Given the description of an element on the screen output the (x, y) to click on. 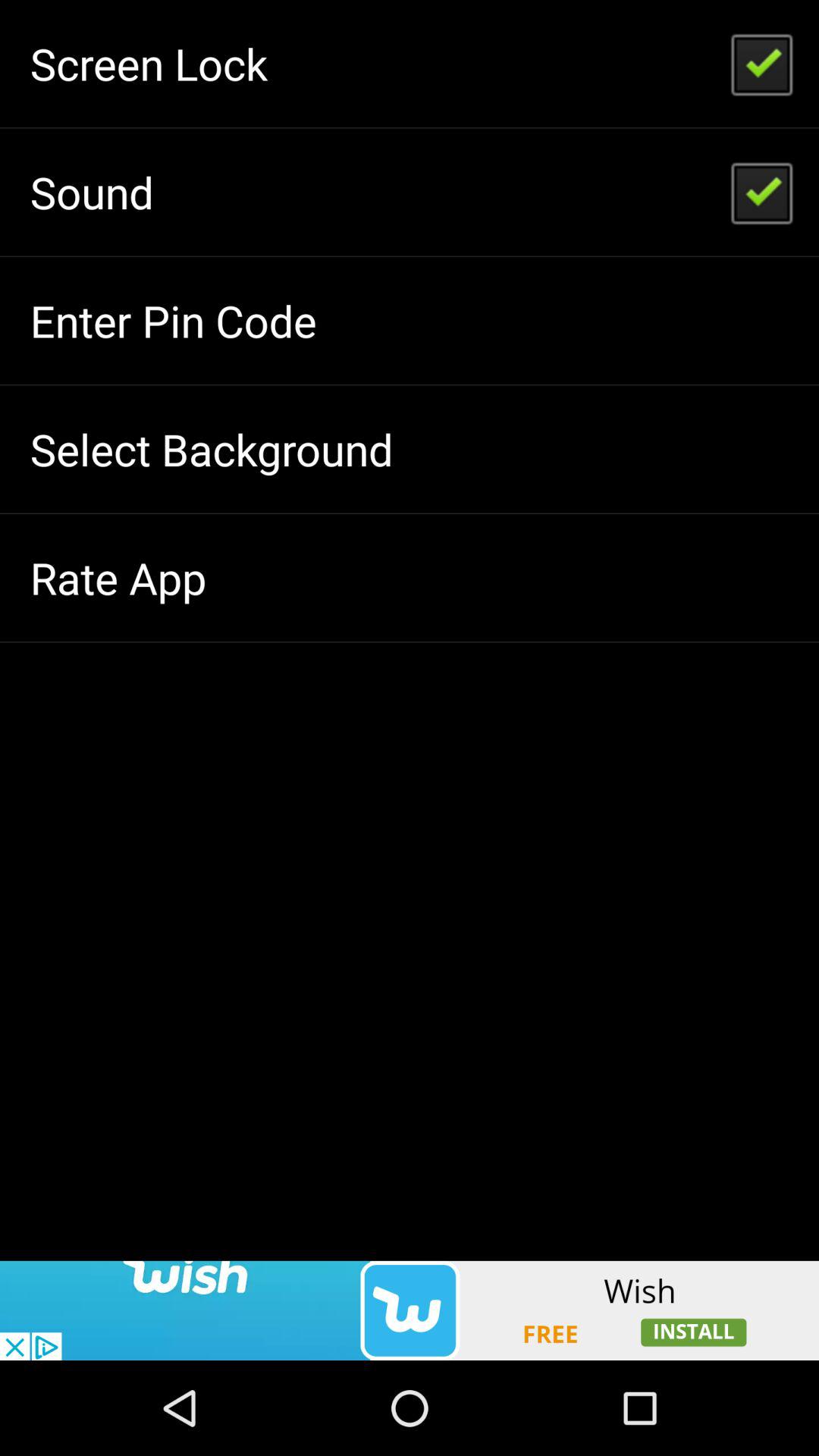
view advertisement (409, 1310)
